Given the description of an element on the screen output the (x, y) to click on. 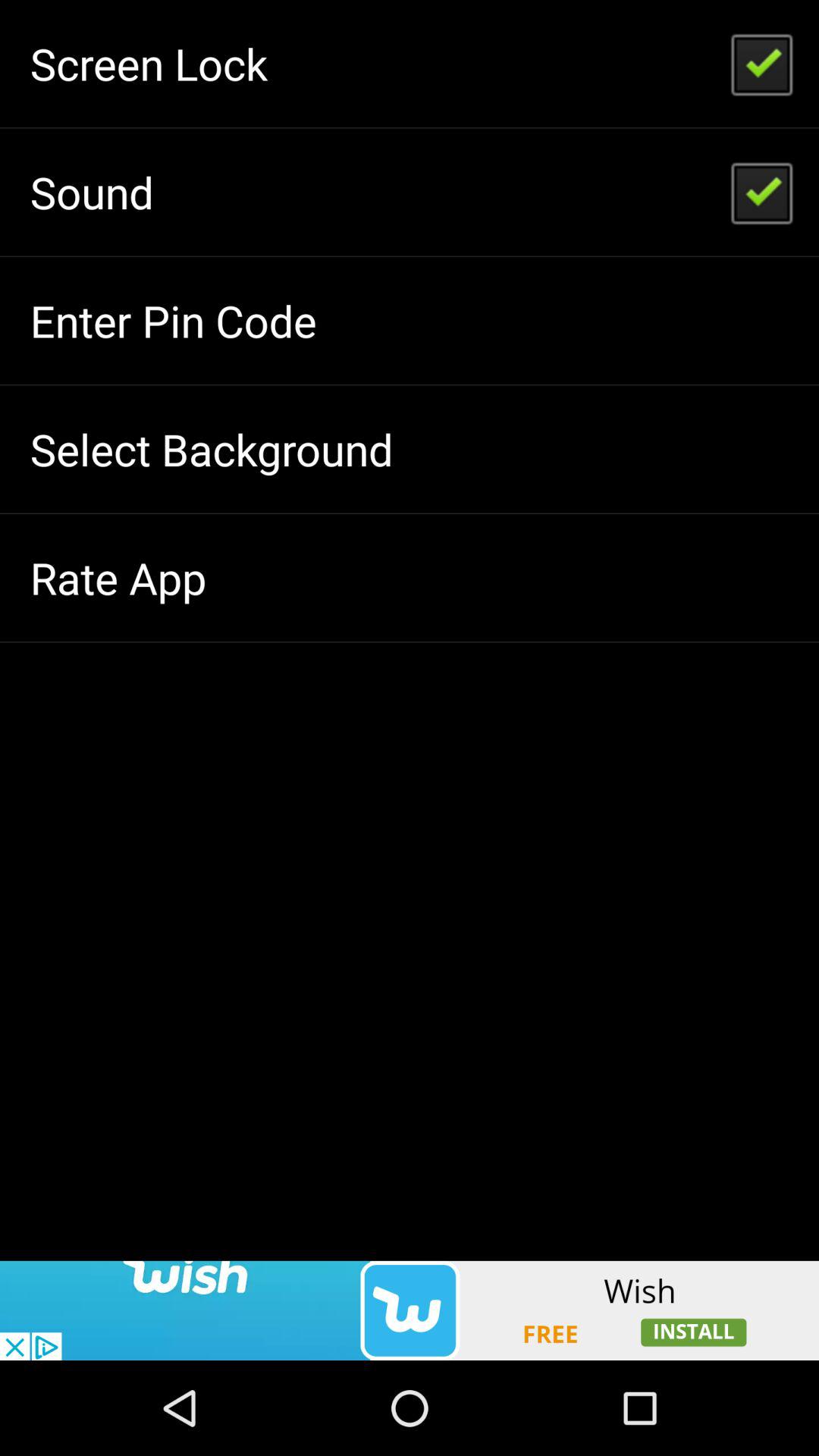
view advertisement (409, 1310)
